Given the description of an element on the screen output the (x, y) to click on. 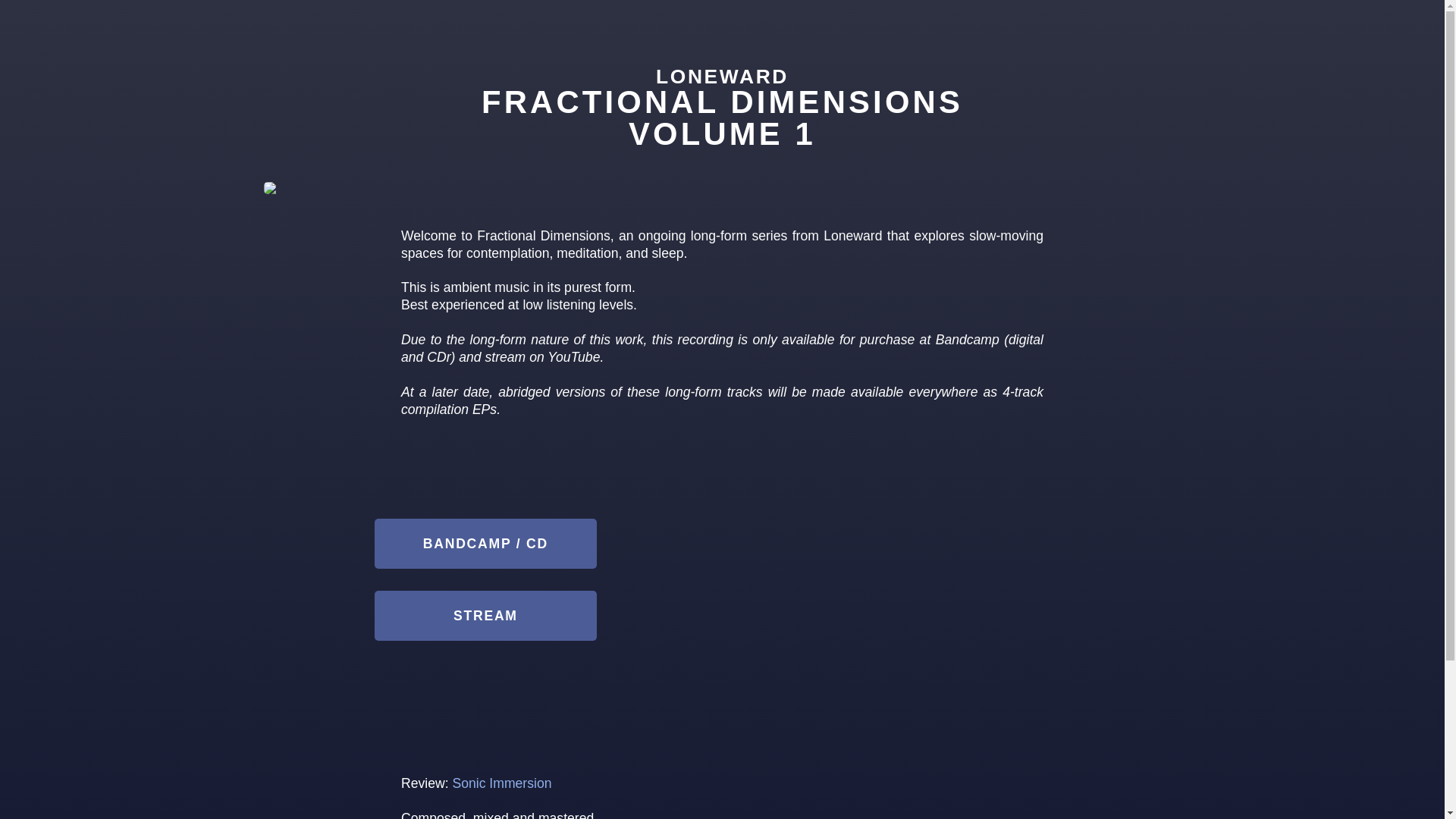
BANDCAMP / CD Element type: text (485, 543)
STREAM Element type: text (485, 615)
Sonic Immersion Element type: text (501, 782)
